Given the description of an element on the screen output the (x, y) to click on. 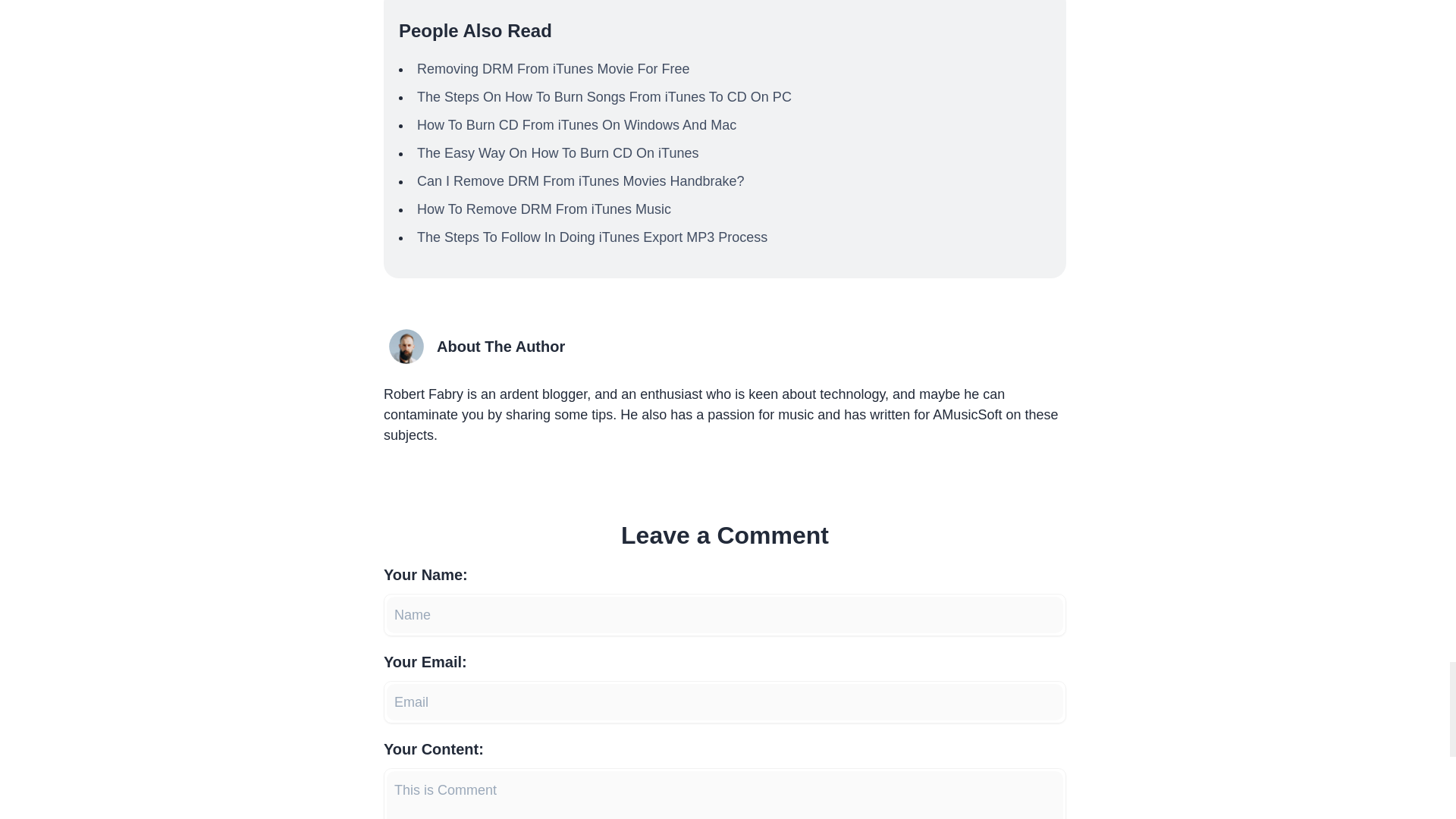
Removing DRM From iTunes Movie For Free (552, 68)
How To Burn CD From iTunes On Windows And Mac (576, 124)
Can I Remove DRM From iTunes Movies Handbrake? (580, 181)
The Steps To Follow In Doing iTunes Export MP3 Process (591, 237)
The Easy Way On How To Burn CD On iTunes (557, 152)
The Steps On How To Burn Songs From iTunes To CD On PC (604, 96)
How To Remove DRM From iTunes Music (543, 209)
